Given the description of an element on the screen output the (x, y) to click on. 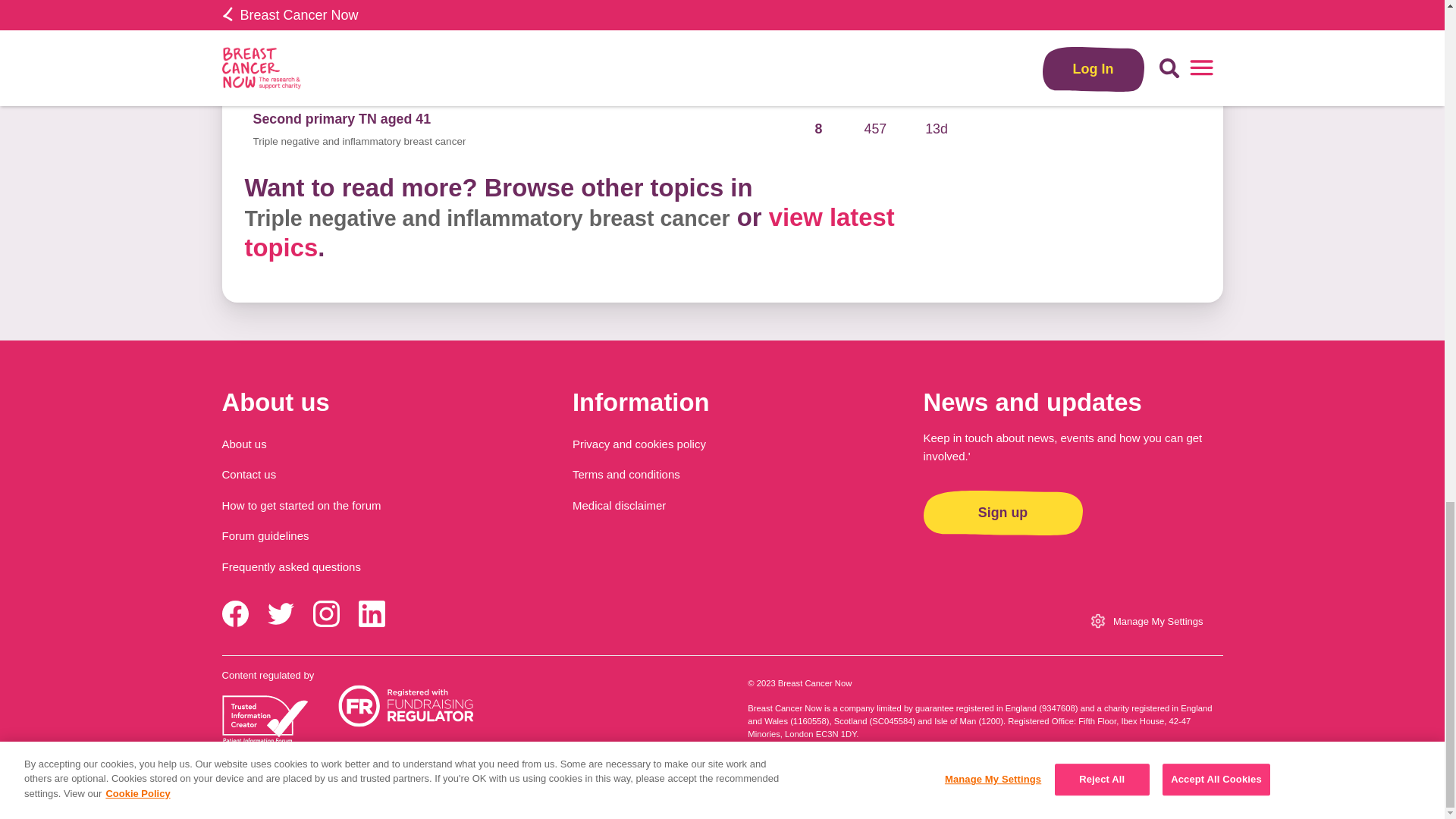
This topic has 5 replies (818, 0)
view latest topics (568, 232)
7 Feb (936, 46)
Triple negative and inflammatory breast cancer (486, 217)
Triple negative and inflammatory breast cancer (359, 69)
Second primary TN aged 41 (341, 118)
this topic has been viewed 310 times (875, 46)
Triple negative and inflammatory breast cancer (940, 0)
